Given the description of an element on the screen output the (x, y) to click on. 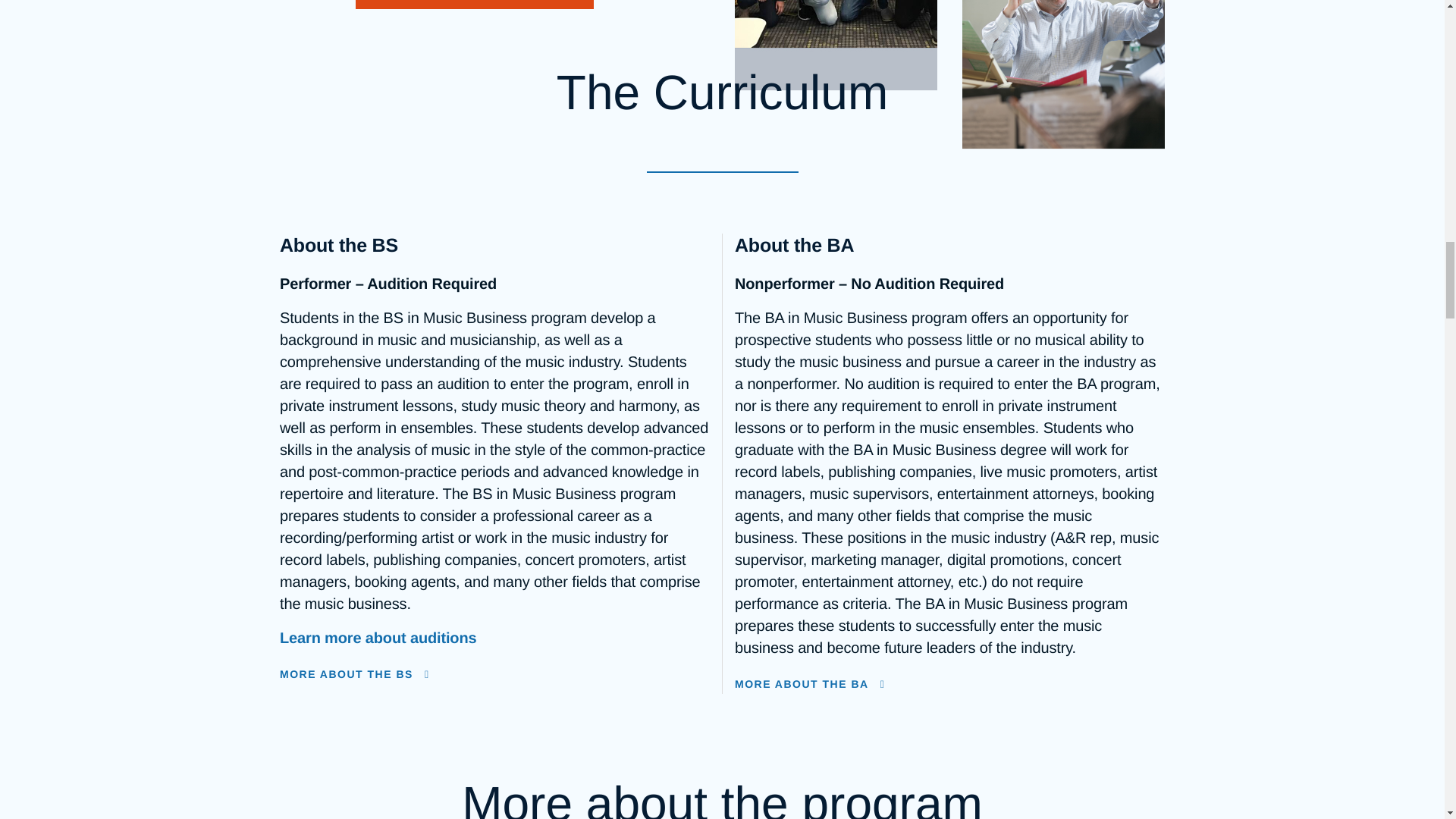
MORE ABOUT THE BA (949, 684)
MEET YOUR PROFESSORS (474, 4)
MORE ABOUT THE BS (494, 674)
Learn more about auditions (377, 638)
